Given the description of an element on the screen output the (x, y) to click on. 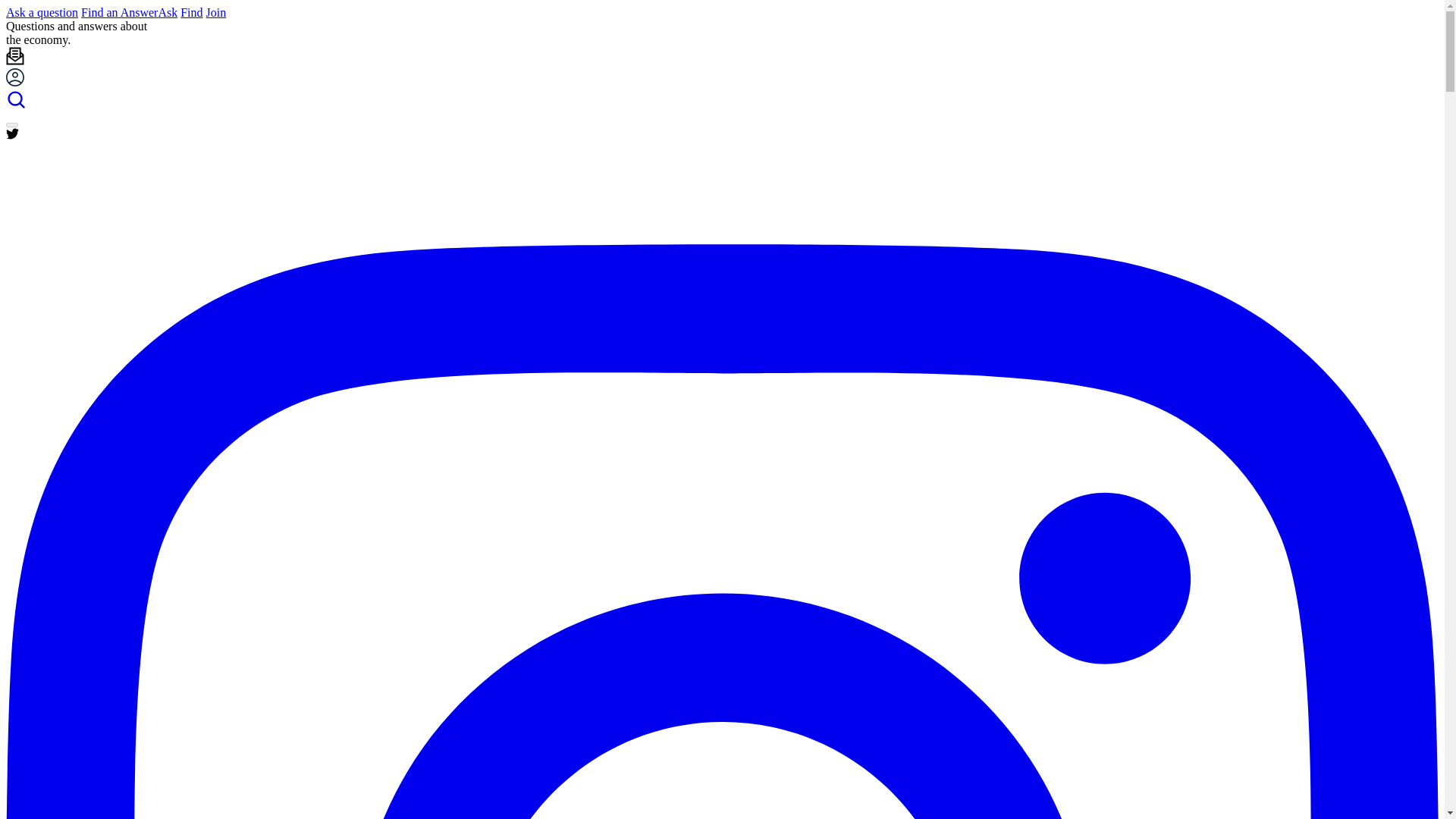
Find an Answer (119, 11)
Find (191, 11)
Join (216, 11)
Ask a question (41, 11)
Ask (167, 11)
